Given the description of an element on the screen output the (x, y) to click on. 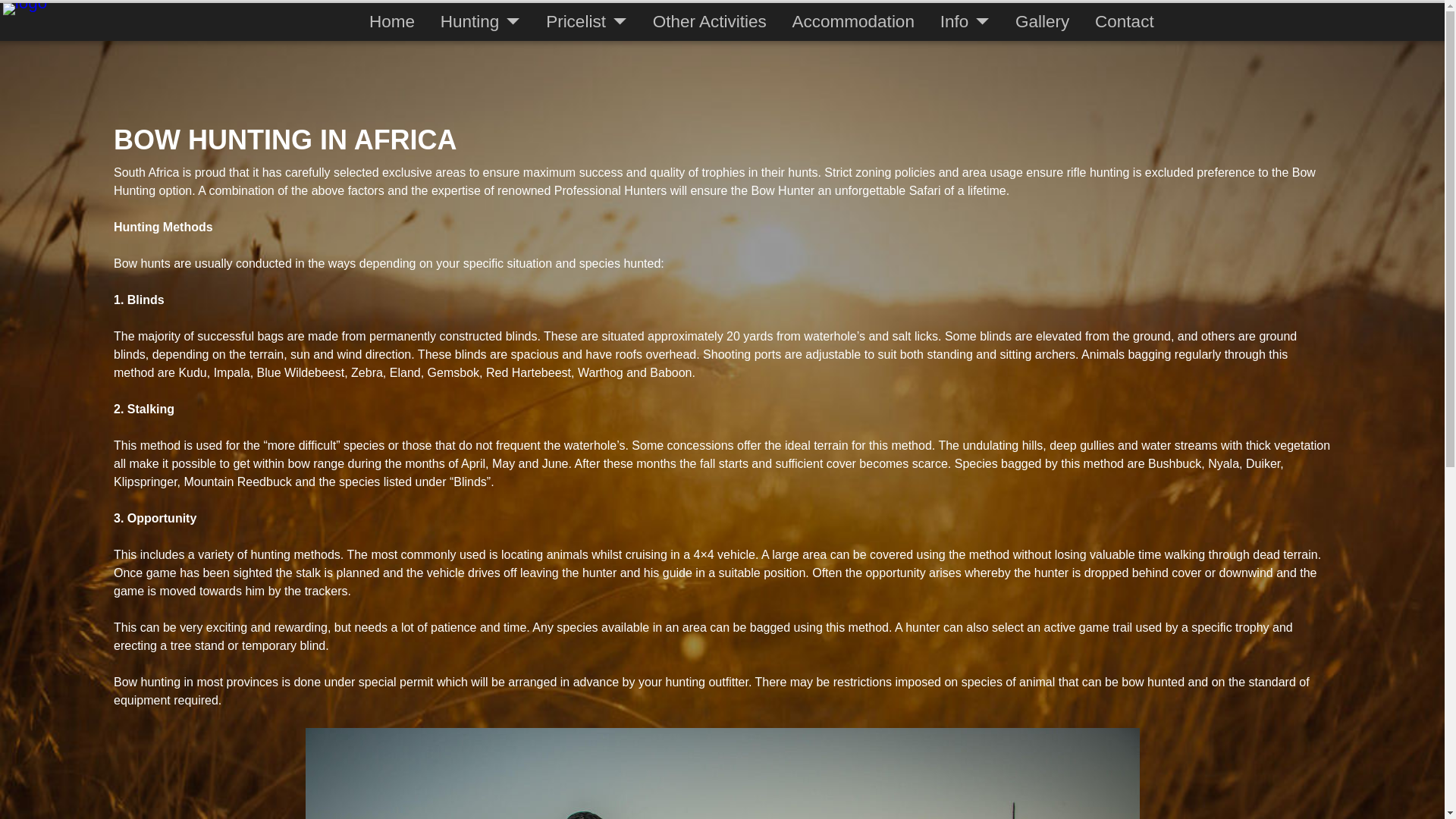
Home (392, 21)
Other Activities (709, 21)
Accommodation (852, 21)
Pricelist (586, 21)
Info (965, 21)
Contact (1123, 21)
Gallery (1042, 21)
Hunting (480, 21)
